Given the description of an element on the screen output the (x, y) to click on. 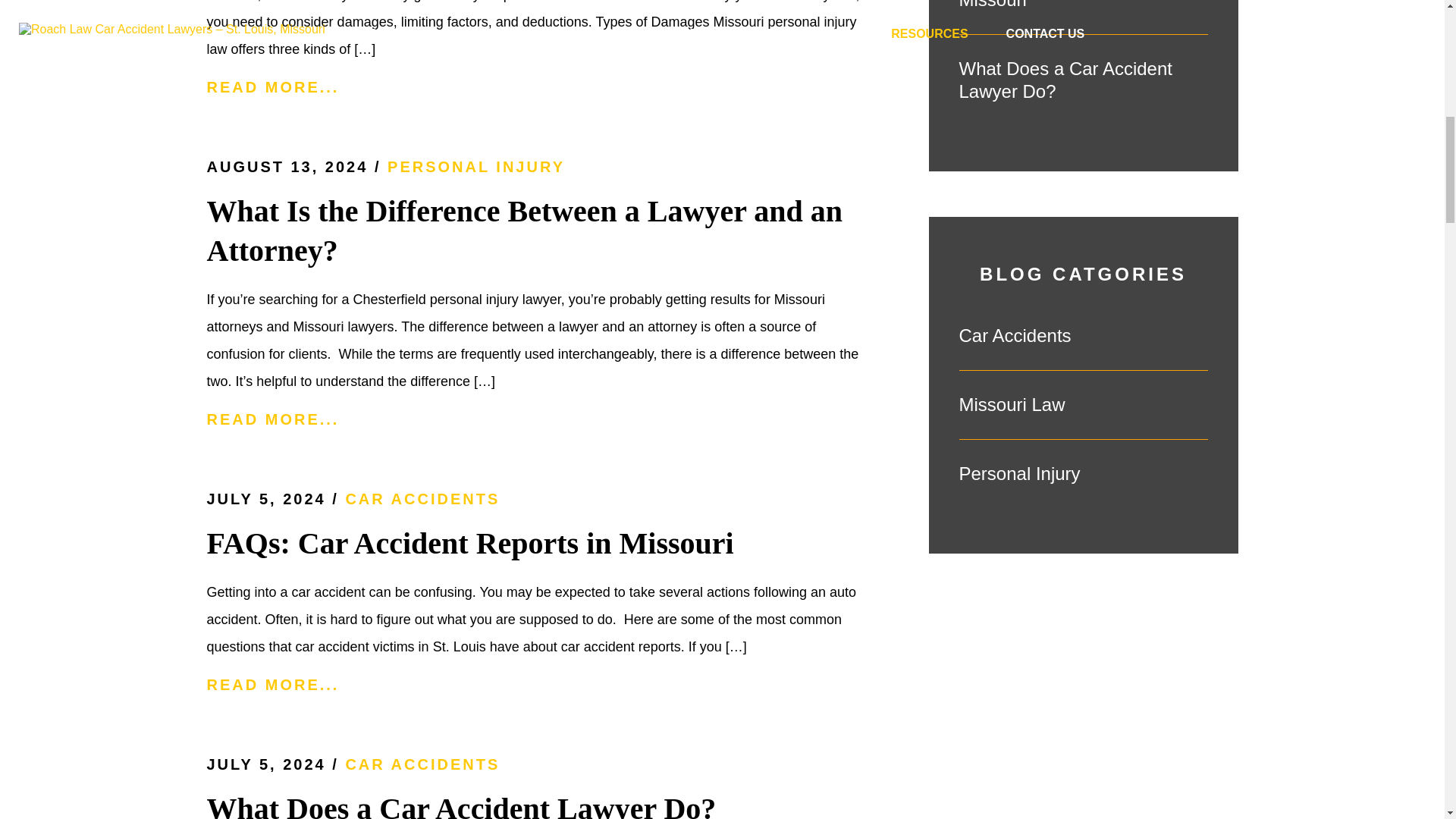
READ MORE... (541, 87)
READ MORE... (541, 684)
CAR ACCIDENTS (422, 764)
CAR ACCIDENTS (422, 498)
PERSONAL INJURY (475, 166)
READ MORE... (541, 419)
